Given the description of an element on the screen output the (x, y) to click on. 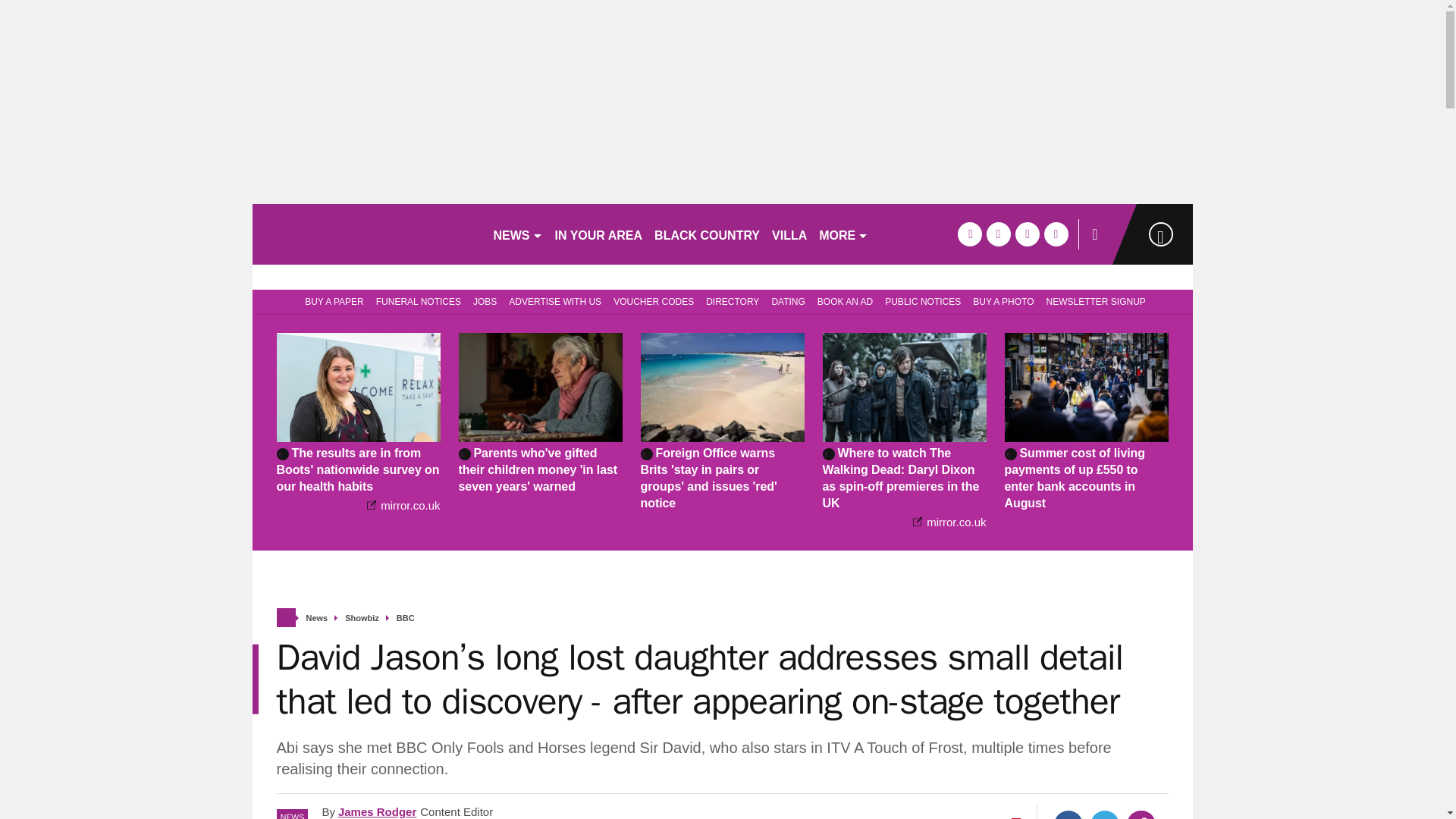
birminghammail (365, 233)
BLACK COUNTRY (706, 233)
MORE (843, 233)
Twitter (1104, 814)
NEWS (517, 233)
instagram (1055, 233)
IN YOUR AREA (598, 233)
facebook (968, 233)
twitter (997, 233)
Facebook (1068, 814)
tiktok (1026, 233)
